Given the description of an element on the screen output the (x, y) to click on. 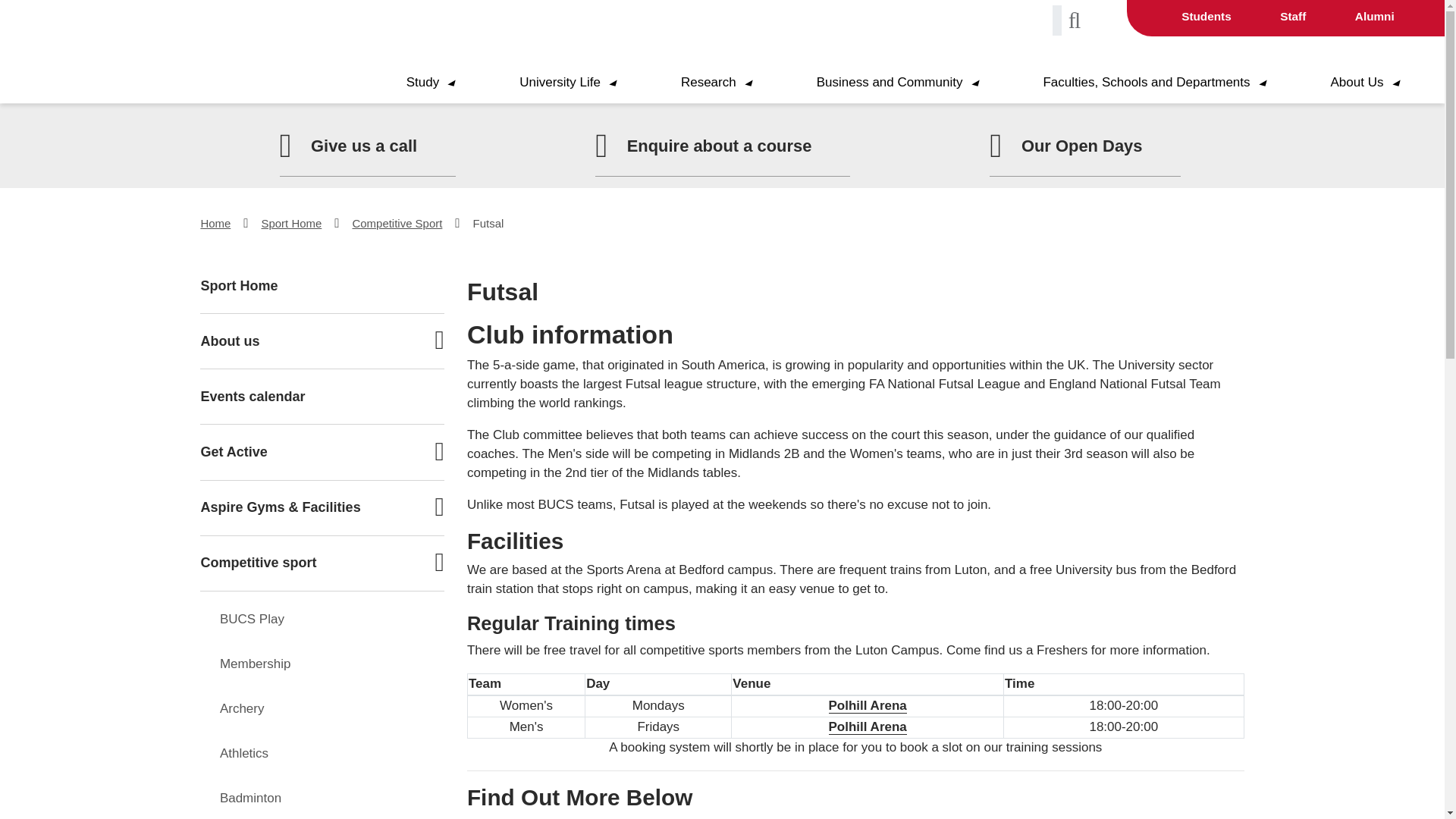
University Life  (567, 82)
Faculties, Schools and Departments  (1153, 82)
Open days (1065, 145)
enquire (702, 145)
Staff (1292, 16)
Research  (716, 82)
About Us (1364, 82)
Study (430, 82)
Business and Community (897, 82)
Students (1206, 16)
tel:03003300703 (347, 145)
Alumni (1374, 16)
Sport Home (322, 285)
About us (316, 340)
